Given the description of an element on the screen output the (x, y) to click on. 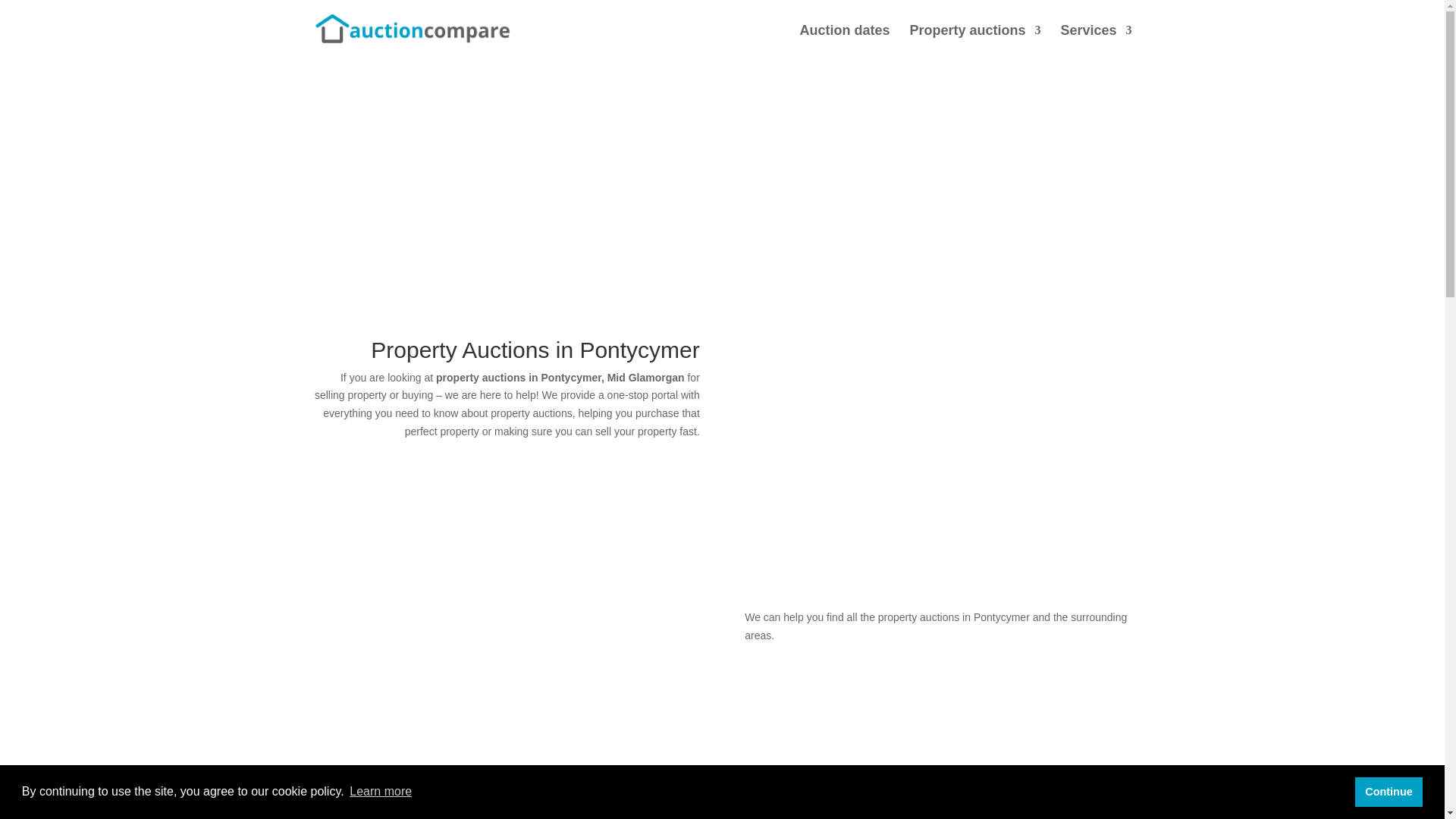
Property auctions (974, 42)
Learn more (380, 791)
Services (1095, 42)
Auction dates (844, 42)
Auction Dates - Click Here (505, 628)
Continue (1388, 791)
